Given the description of an element on the screen output the (x, y) to click on. 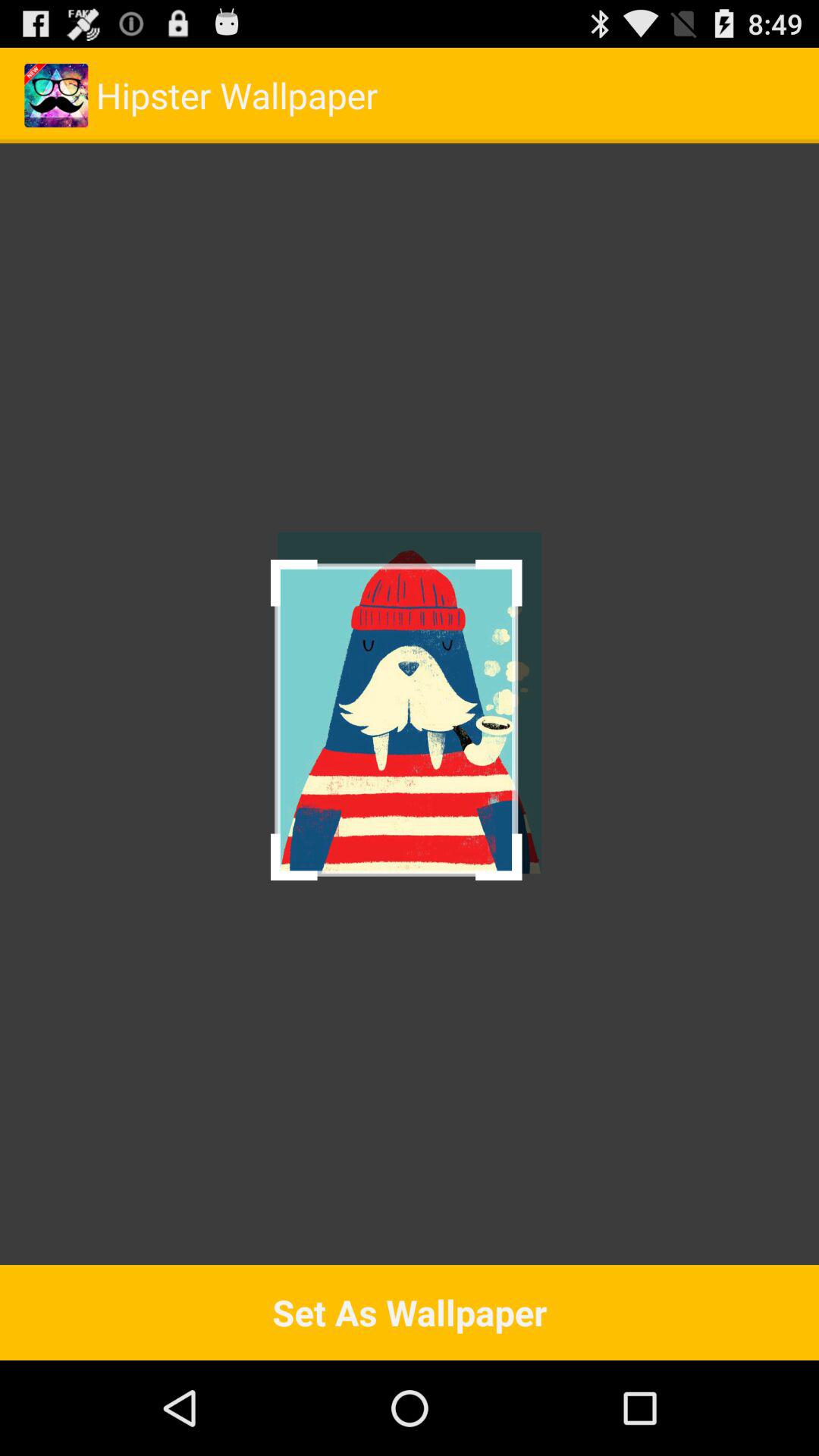
jump to set as wallpaper button (409, 1312)
